Given the description of an element on the screen output the (x, y) to click on. 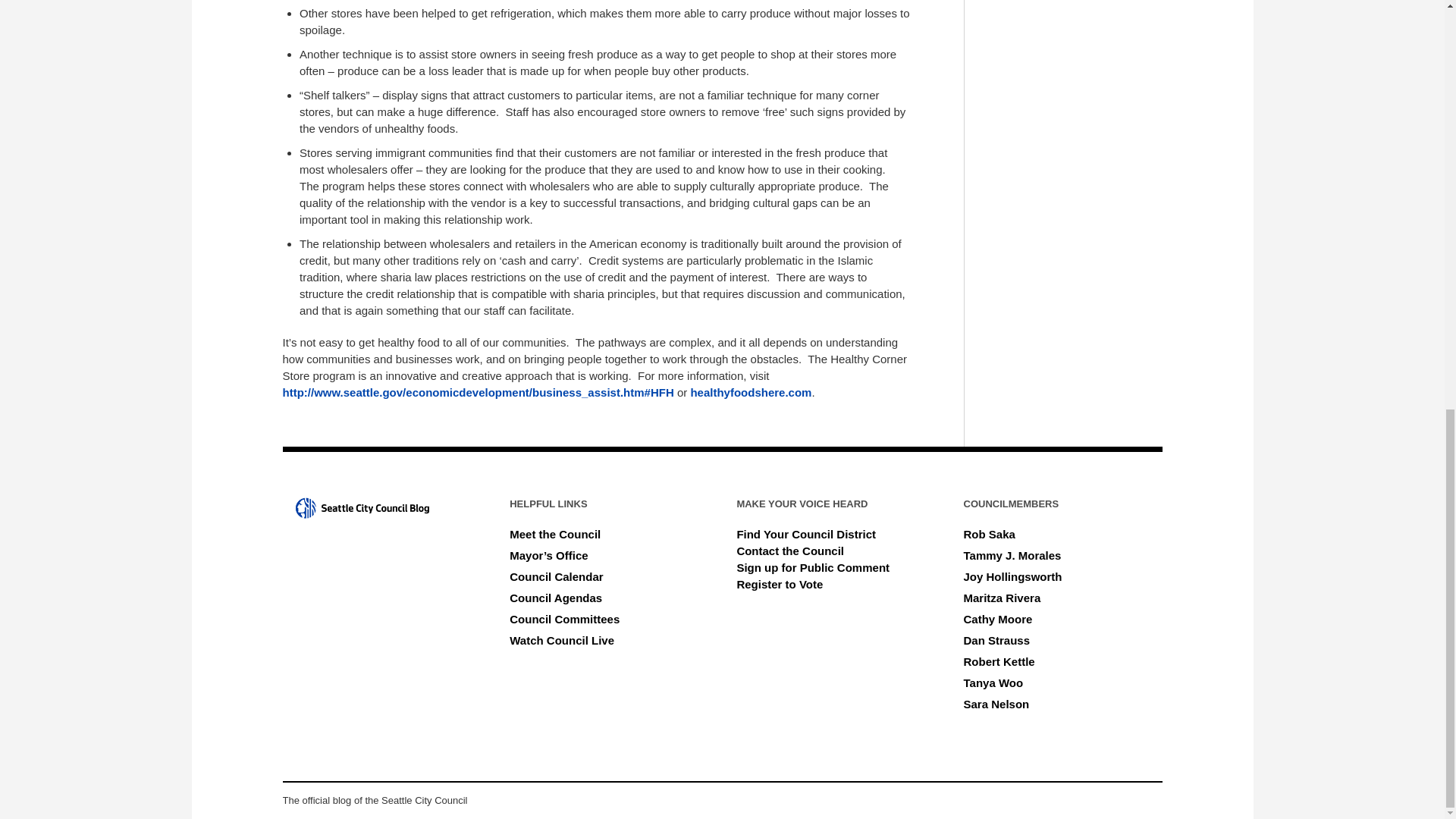
Council Committees (564, 618)
Joy Hollingsworth (1012, 576)
Tammy J. Morales (1012, 554)
Rob Saka (988, 533)
Register to Vote (779, 584)
Watch Council Live (561, 640)
Find Your Council District (806, 533)
Council Agendas (555, 597)
Maritza Rivera (1002, 597)
Meet the Council (554, 533)
